Given the description of an element on the screen output the (x, y) to click on. 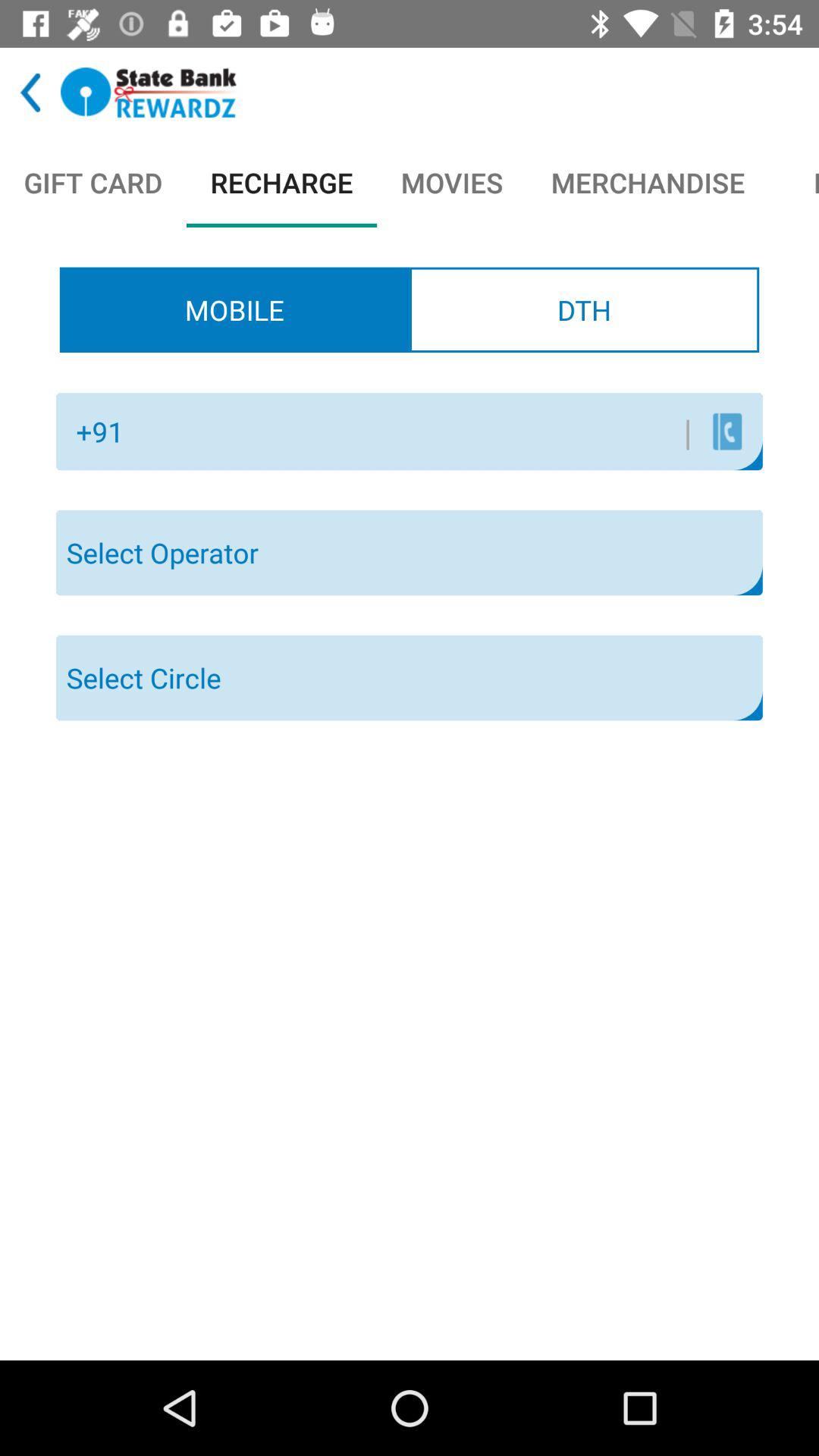
go to previous (30, 92)
